Given the description of an element on the screen output the (x, y) to click on. 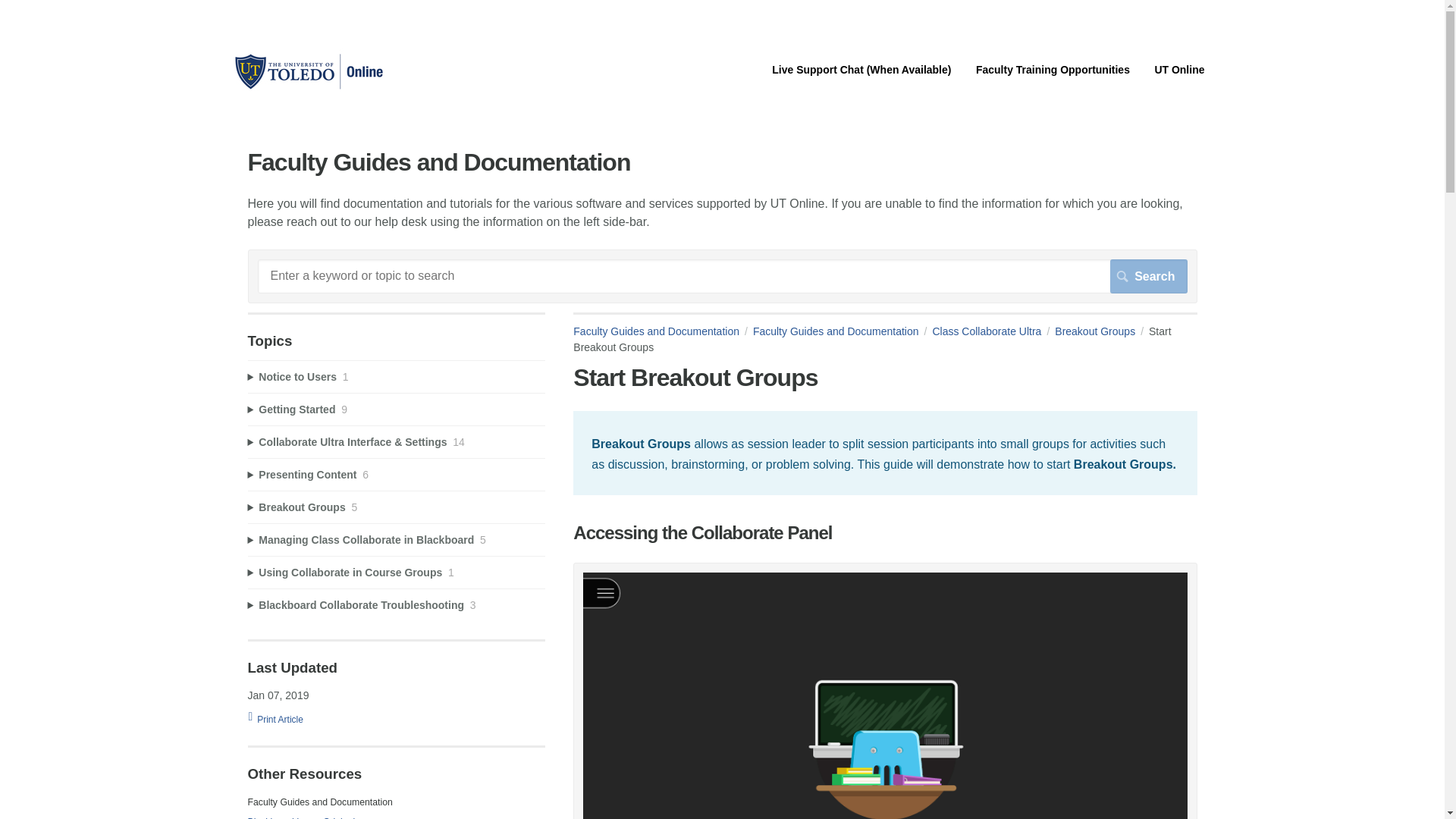
Faculty Training Opportunities (1052, 69)
UT Online (1179, 69)
Class Collaborate Ultra (992, 331)
Search (1147, 275)
Search (1147, 275)
Search (1147, 275)
Breakout Groups (1101, 331)
Faculty Guides and Documentation (308, 89)
Faculty Guides and Documentation (662, 331)
Faculty Guides and Documentation (842, 331)
